Given the description of an element on the screen output the (x, y) to click on. 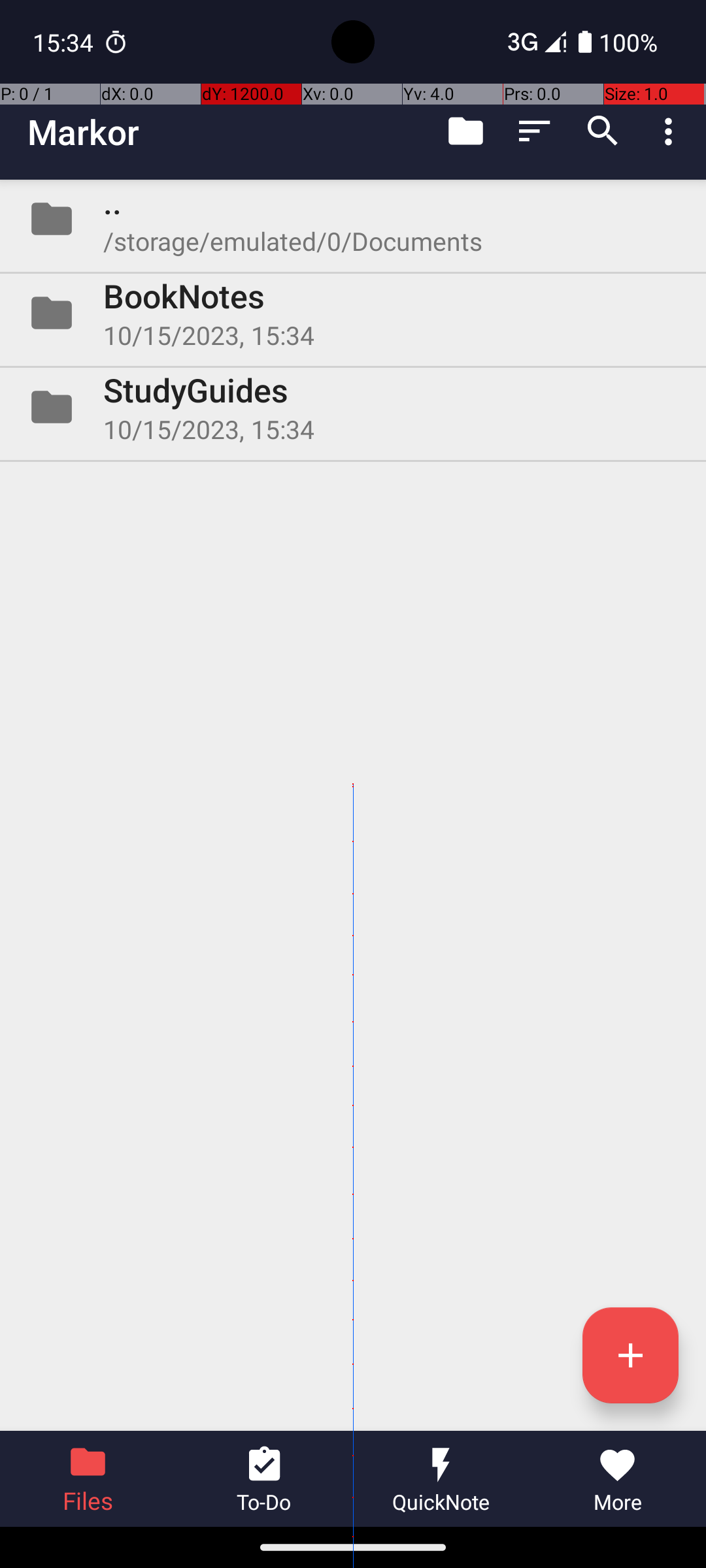
Folder BookNotes  Element type: android.widget.LinearLayout (353, 312)
Folder StudyGuides  Element type: android.widget.LinearLayout (353, 406)
